Given the description of an element on the screen output the (x, y) to click on. 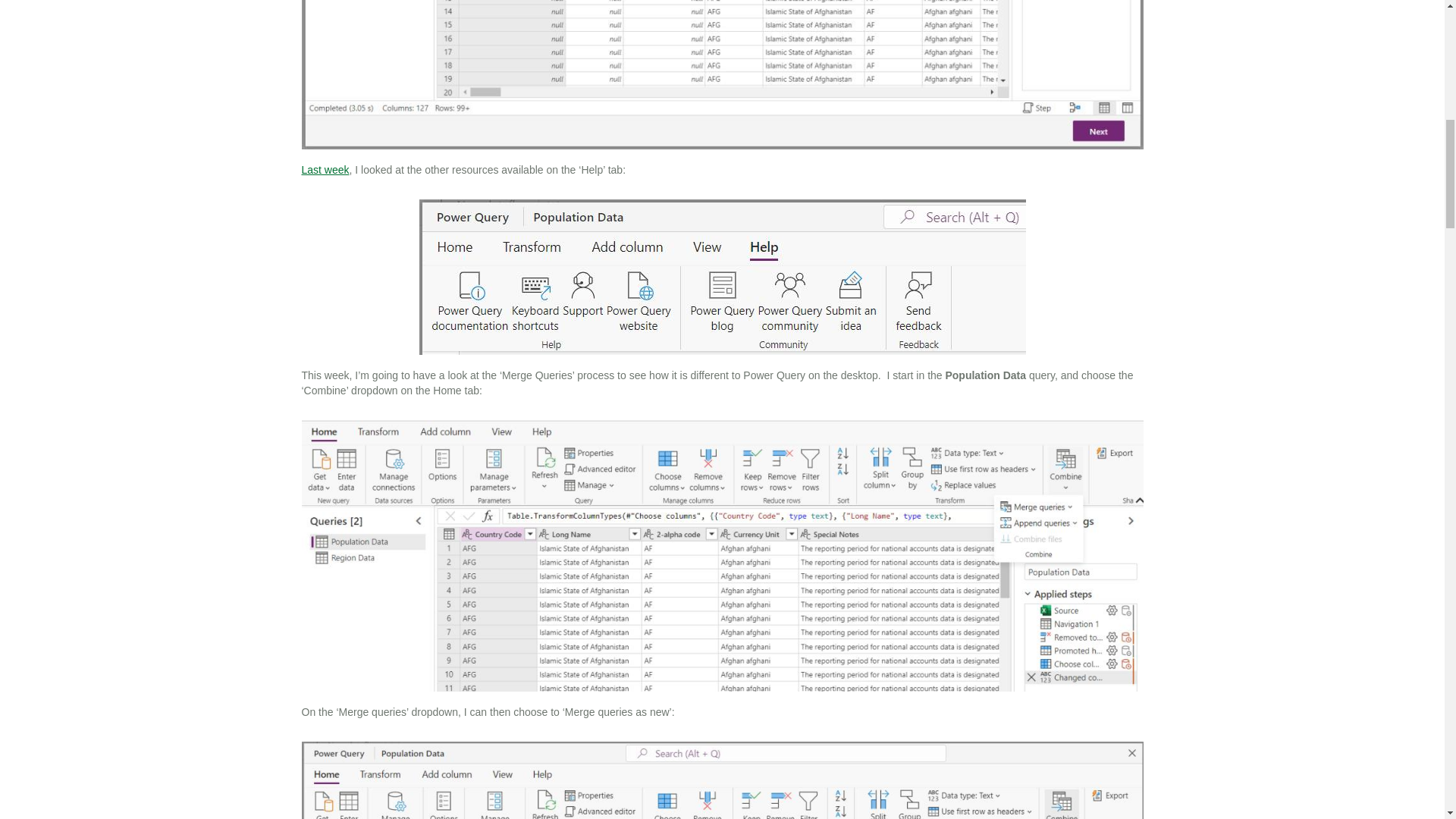
Last week (325, 169)
